Given the description of an element on the screen output the (x, y) to click on. 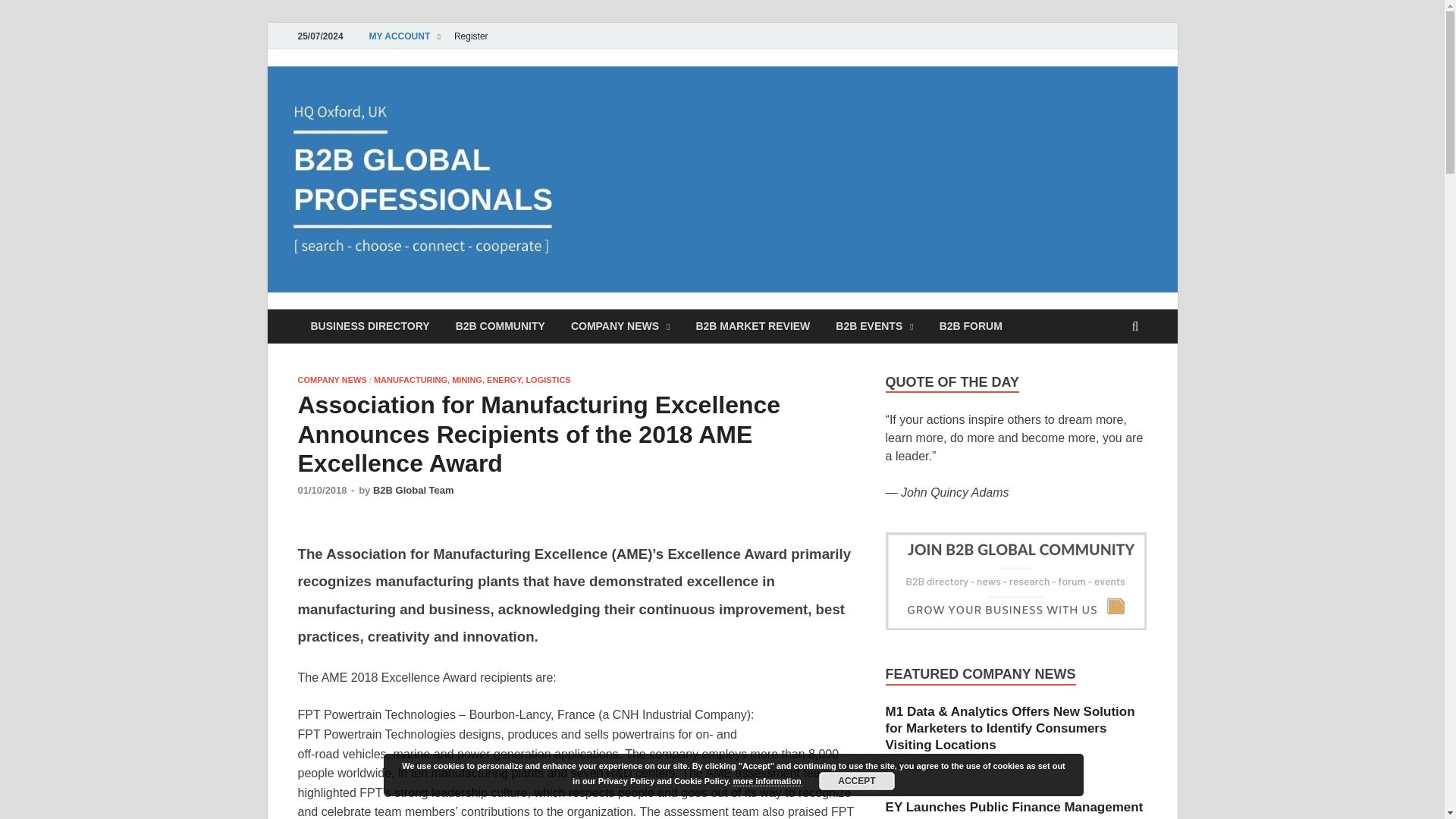
MY ACCOUNT (404, 35)
COMPANY NEWS (619, 326)
Register (470, 35)
BUSINESS DIRECTORY (369, 326)
B2B COMMUNITY (499, 326)
B2B MARKET REVIEW (752, 326)
